Given the description of an element on the screen output the (x, y) to click on. 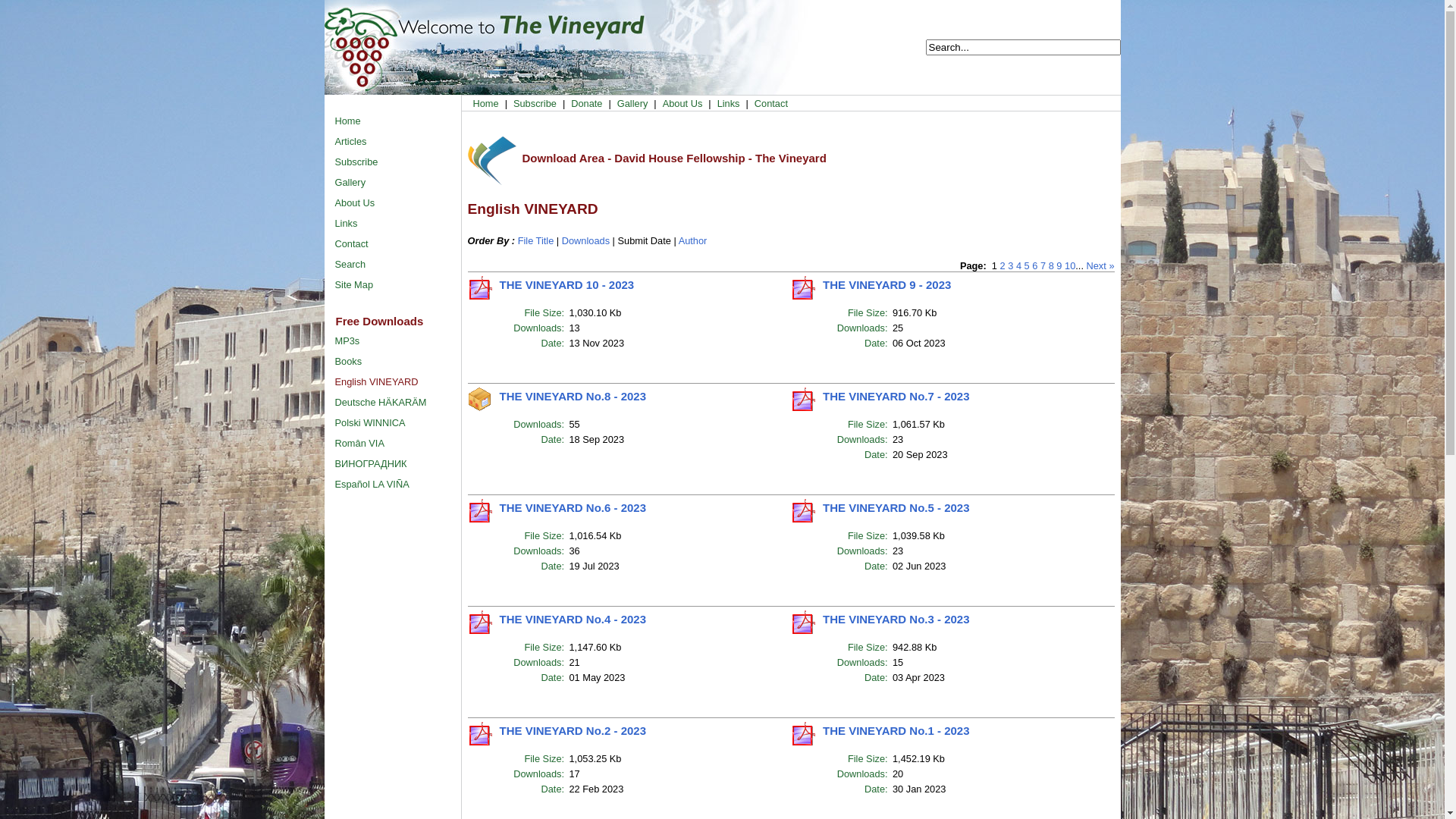
THE VINEYARD No.6 - 2023 Element type: text (571, 507)
8 Element type: text (1051, 265)
Subscribe Element type: text (534, 102)
THE VINEYARD No.1 - 2023 Element type: text (895, 730)
Gallery Element type: text (396, 181)
THE VINEYARD No.5 - 2023 Element type: text (895, 507)
About Us Element type: text (682, 102)
Books Element type: text (396, 360)
Search Element type: text (396, 263)
About Us Element type: text (396, 202)
2 Element type: text (1002, 265)
THE VINEYARD No.3 - 2023 Element type: text (895, 618)
Subscribe Element type: text (396, 161)
7 Element type: text (1042, 265)
5 Element type: text (1026, 265)
4 Element type: text (1018, 265)
Contact Element type: text (770, 102)
Site Map Element type: text (396, 284)
THE VINEYARD 10 - 2023 Element type: text (565, 284)
THE VINEYARD No.7 - 2023 Element type: text (895, 395)
3 Element type: text (1010, 265)
Home Element type: text (485, 102)
Links Element type: text (396, 222)
English VINEYARD Element type: text (396, 381)
Author Element type: text (692, 240)
Polski WINNICA Element type: text (396, 422)
Articles Element type: text (396, 140)
Donate Element type: text (586, 102)
File Title Element type: text (535, 240)
MP3s Element type: text (396, 340)
9 Element type: text (1058, 265)
10 Element type: text (1069, 265)
Downloads Element type: text (585, 240)
Links Element type: text (728, 102)
Contact Element type: text (396, 243)
THE VINEYARD 9 - 2023 Element type: text (886, 284)
Home Element type: text (396, 120)
THE VINEYARD No.4 - 2023 Element type: text (571, 618)
Next Element type: text (1095, 265)
THE VINEYARD No.8 - 2023 Element type: text (571, 395)
Gallery Element type: text (632, 102)
THE VINEYARD No.2 - 2023 Element type: text (571, 730)
6 Element type: text (1034, 265)
